Given the description of an element on the screen output the (x, y) to click on. 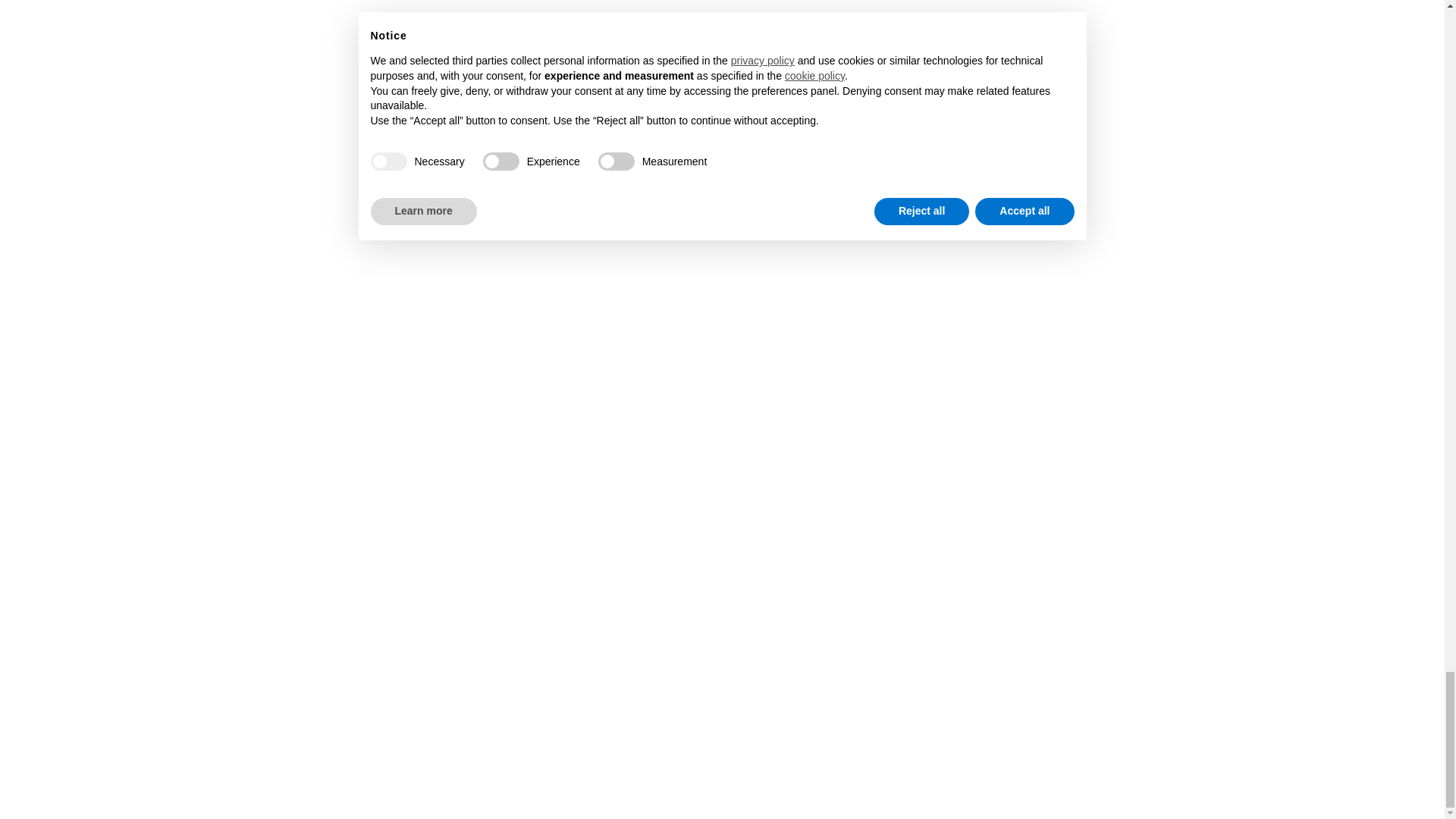
Privacy Policy (56, 766)
Instagram (744, 631)
LinkedIn (799, 631)
Privacy Policy  (56, 766)
Cookie Policy (132, 766)
Join (1343, 640)
drop us a line (159, 647)
Cookie Policy  (132, 766)
